Given the description of an element on the screen output the (x, y) to click on. 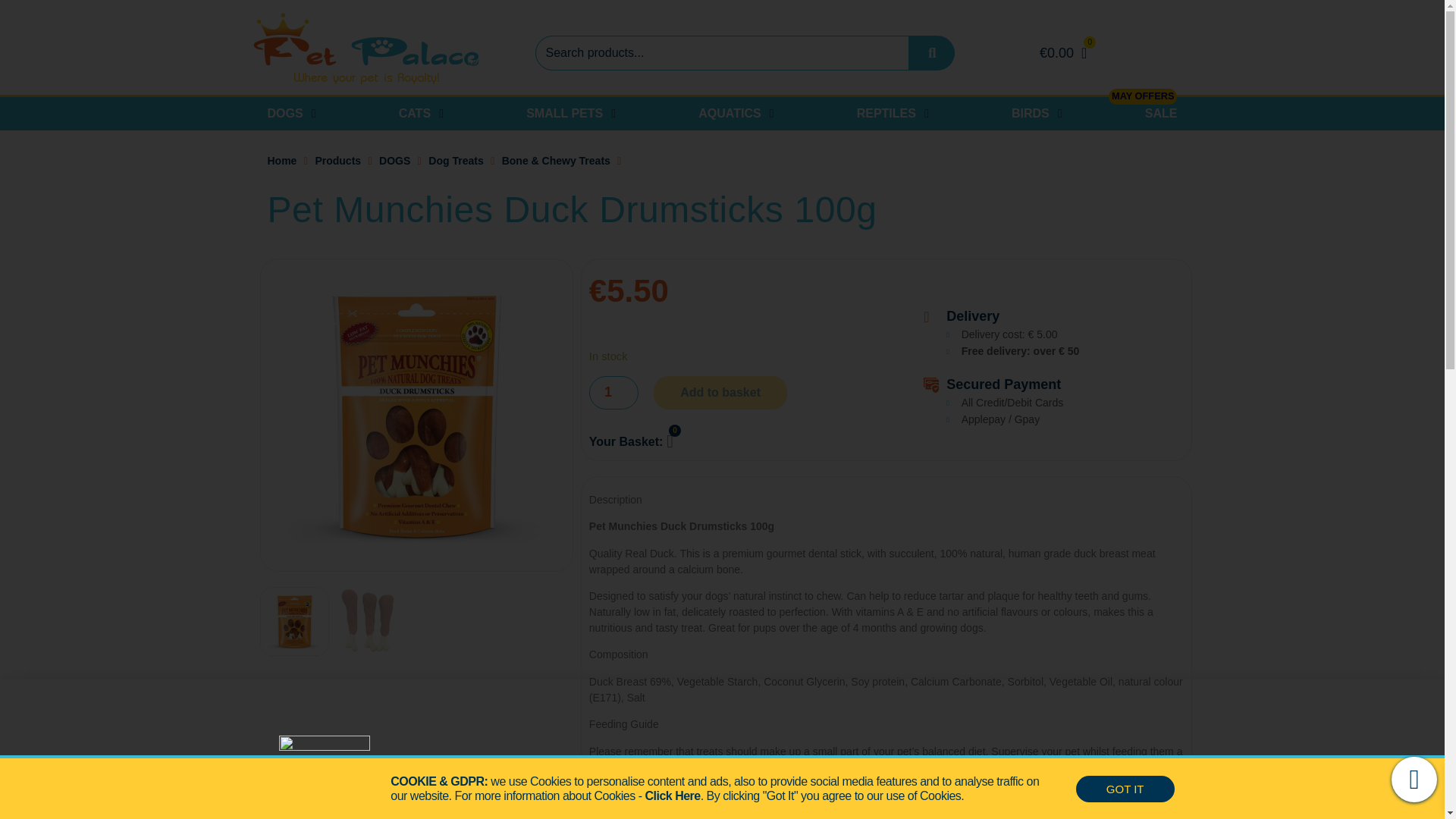
533 (729, 414)
Dog Treats (455, 160)
533 (370, 621)
Products (337, 160)
532 (415, 414)
Home (281, 160)
DOGS (284, 113)
532 (294, 621)
DOGS (394, 160)
1 (614, 392)
